Given the description of an element on the screen output the (x, y) to click on. 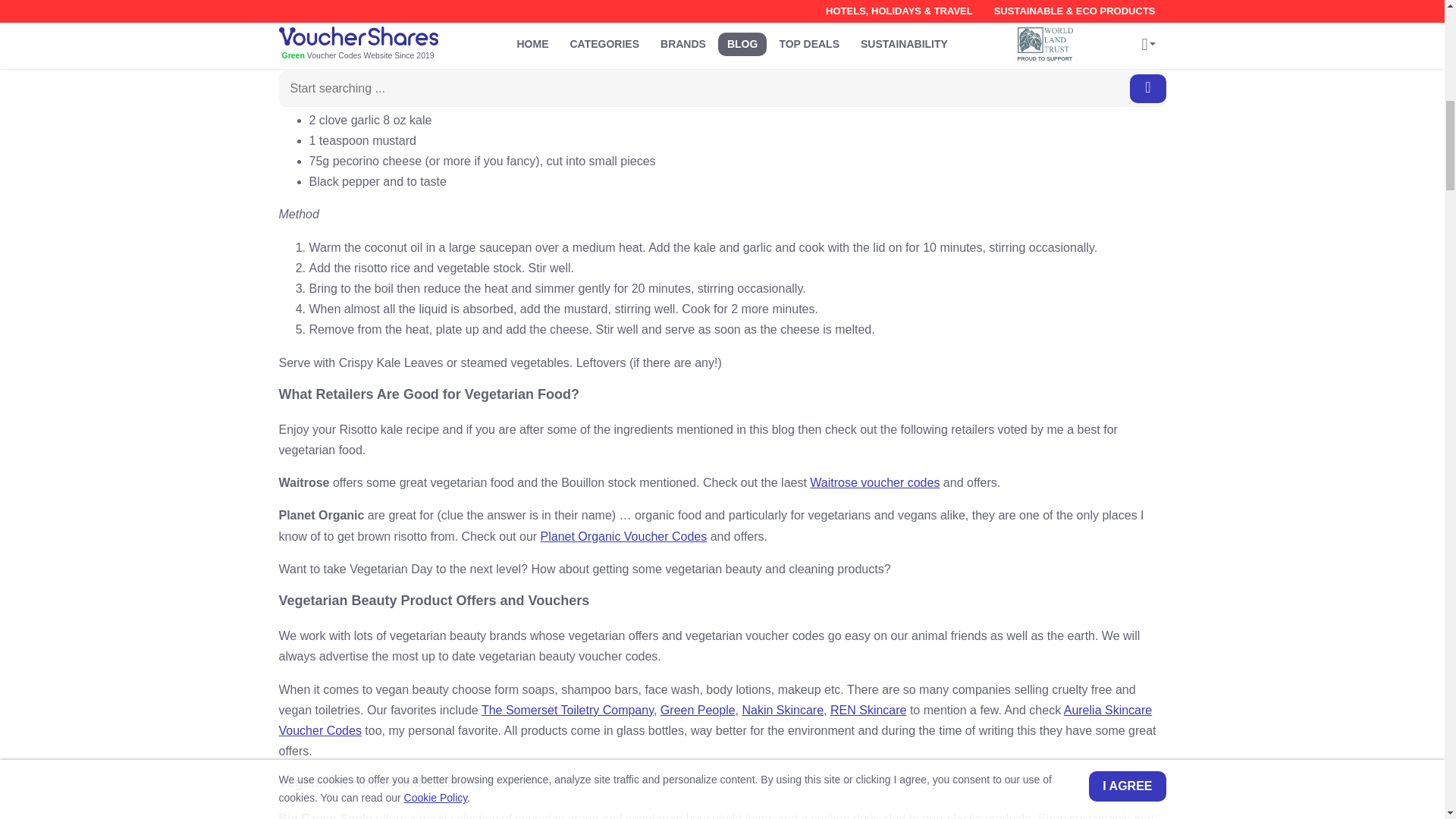
REN Skincare (867, 709)
Waitrose voucher codes (874, 481)
Green People (698, 709)
Planet Organic Voucher Codes (623, 535)
The Somerset Toiletry Company (567, 709)
Aurelia Skincare Voucher Codes (716, 720)
Nakin Skincare (782, 709)
